Given the description of an element on the screen output the (x, y) to click on. 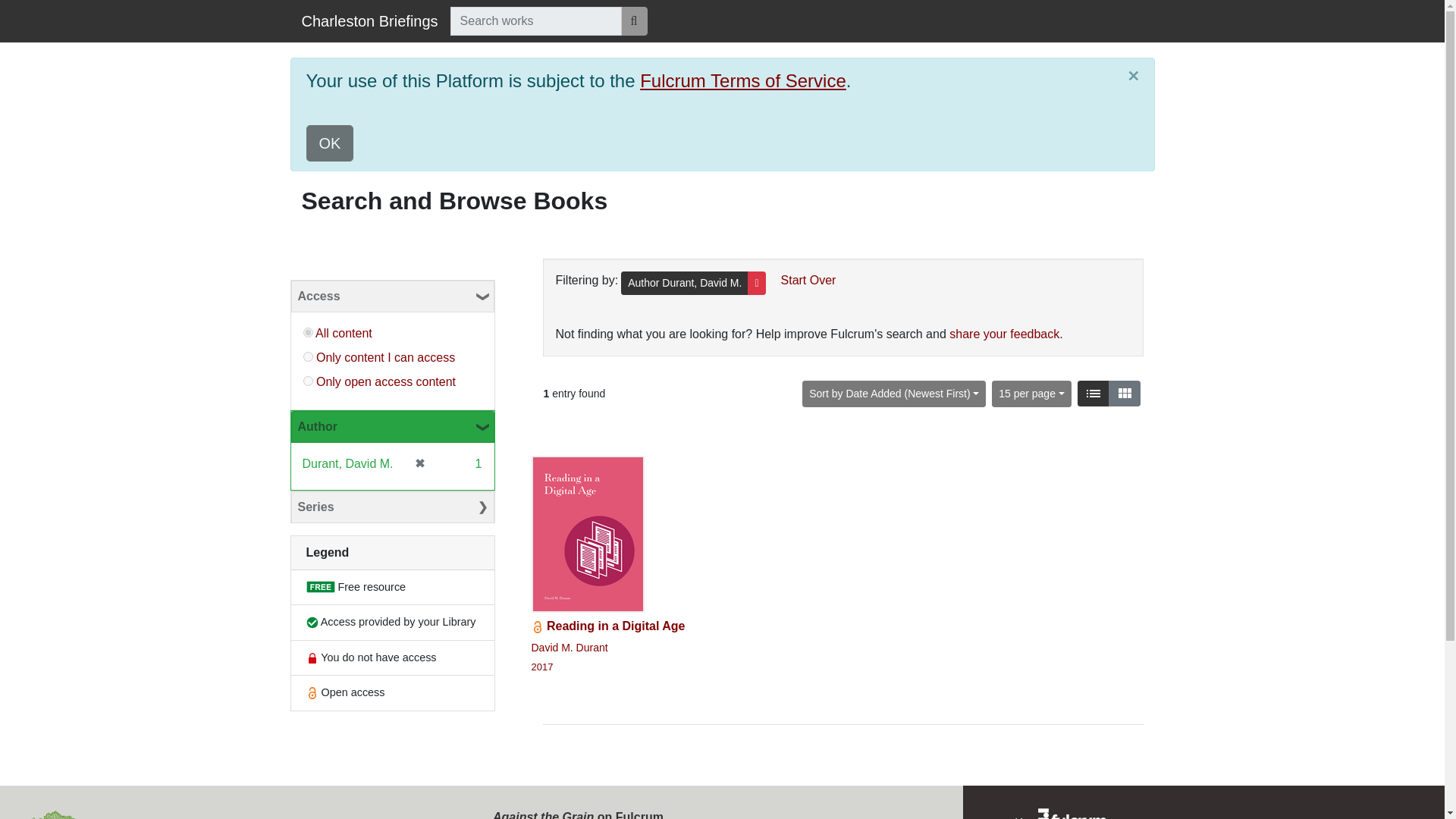
share your feedback (1004, 333)
Series (393, 506)
Start Over (607, 564)
Charleston Briefings (801, 279)
OK (369, 20)
List (329, 143)
All content (1093, 393)
Gallery (343, 332)
on (1124, 393)
Fulcrum Terms of Service (307, 380)
Gallery (742, 80)
on (1123, 393)
Access (307, 356)
Search (393, 296)
